Given the description of an element on the screen output the (x, y) to click on. 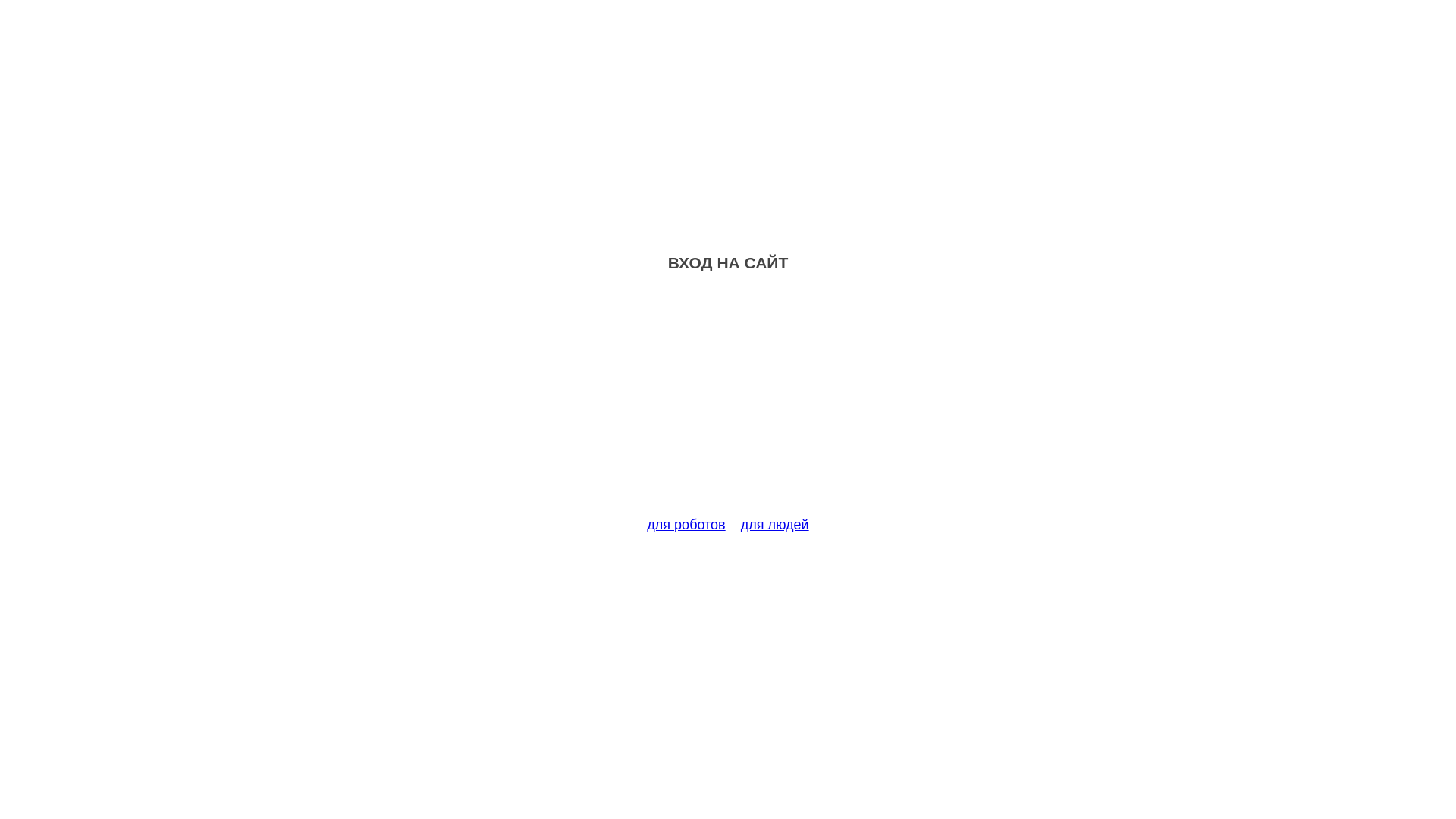
Advertisement Element type: hover (727, 403)
